Given the description of an element on the screen output the (x, y) to click on. 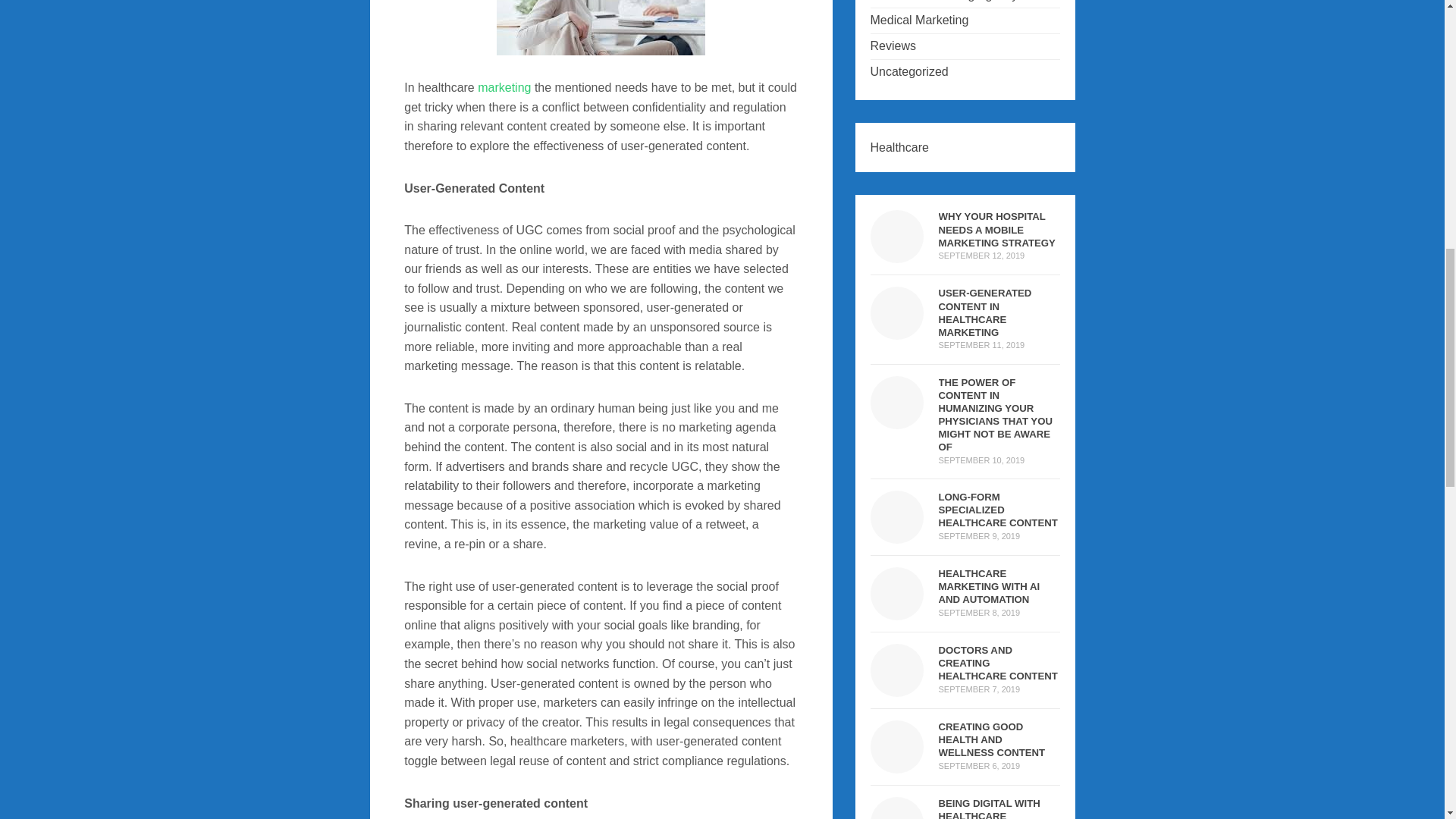
Healthcare Marketing with AI and Automation (990, 586)
User-Generated Content in Healthcare Marketing (985, 312)
Long-Form Specialized Healthcare Content (896, 533)
Doctors and Creating Healthcare Content (896, 686)
Medical Marketing (919, 19)
Healthcare Marketing with AI and Automation (896, 610)
Doctors and Creating Healthcare Content (998, 662)
Why Your Hospital Needs a Mobile Marketing Strategy (997, 229)
